Given the description of an element on the screen output the (x, y) to click on. 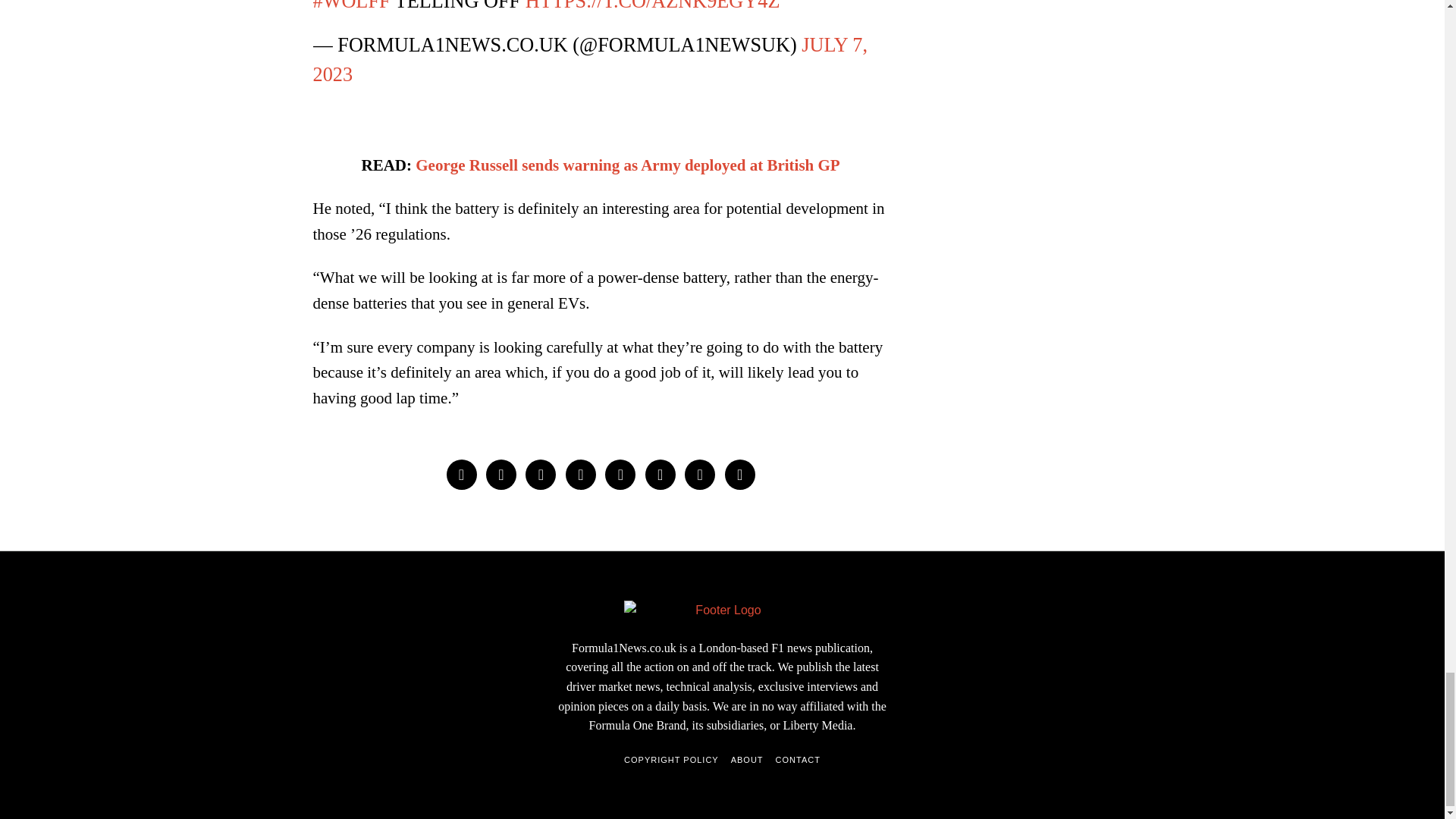
Linkedin (619, 474)
JULY 7, 2023 (590, 59)
George Russell sends warning as Army deployed at British GP (627, 165)
Reddit (699, 474)
Pinterest (580, 474)
Email (740, 474)
CONTACT (798, 759)
Twitter (540, 474)
Whatsapp (660, 474)
COPYRIGHT POLICY (671, 759)
